Given the description of an element on the screen output the (x, y) to click on. 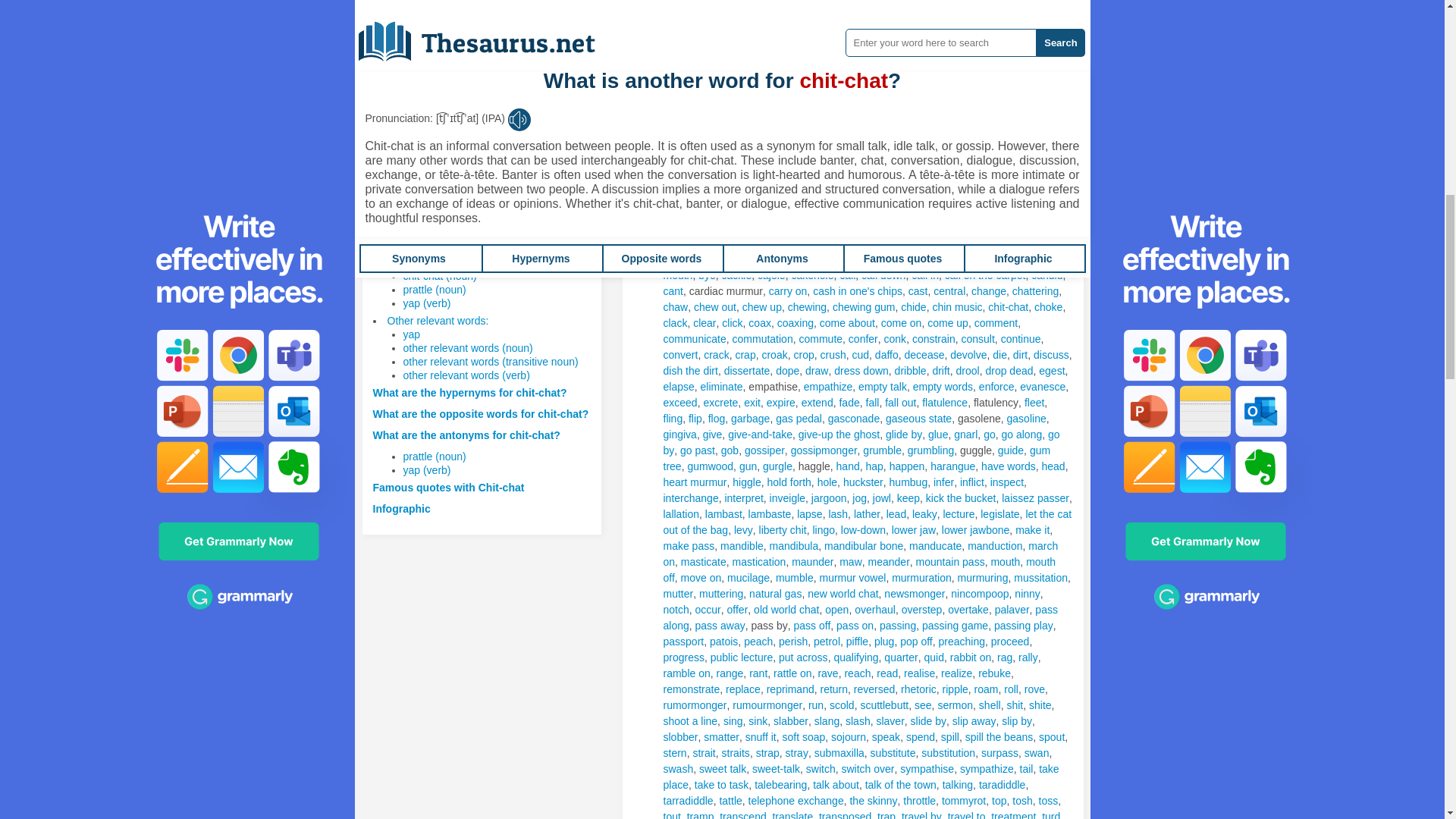
Synonyms for Chit-chat (909, 78)
What are the hypernyms for chit-chat? (469, 392)
Synonyms for Chit-chat (875, 15)
Synonyms for Chit-chat (684, 30)
chinwag (745, 15)
Synonyms for Chit-chat (873, 78)
What is another word for chit-chat? (461, 233)
confab (787, 15)
small talk (684, 30)
Synonyms for Chit-chat (831, 15)
Synonyms for Chit-chat (705, 15)
What are the antonyms for chit-chat? (466, 435)
cosy chat (831, 15)
Synonyms for Chit-chat (952, 78)
yap (411, 334)
